Given the description of an element on the screen output the (x, y) to click on. 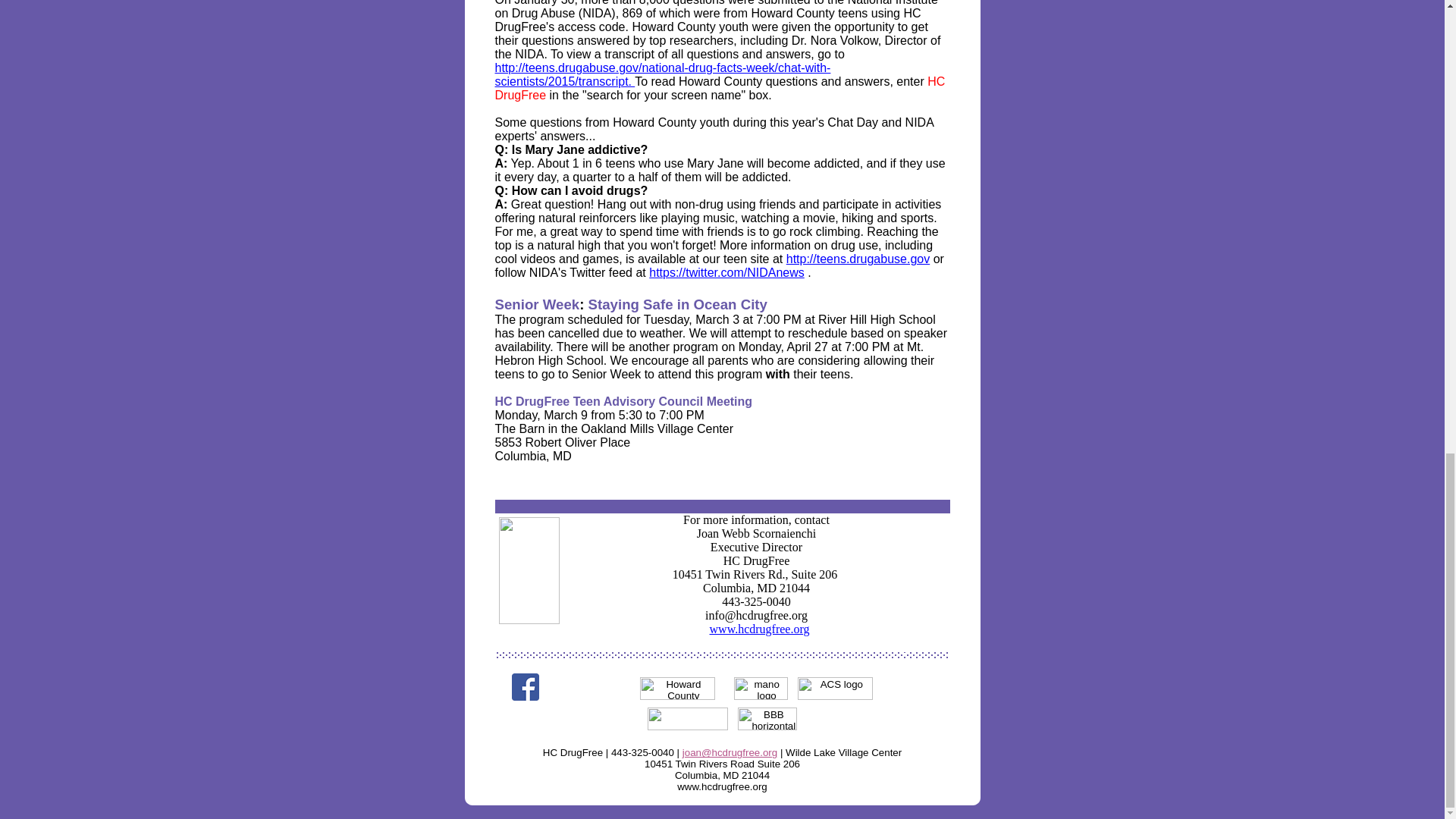
www.hcdrugfree.org (759, 628)
Like us on Facebook (524, 687)
